Given the description of an element on the screen output the (x, y) to click on. 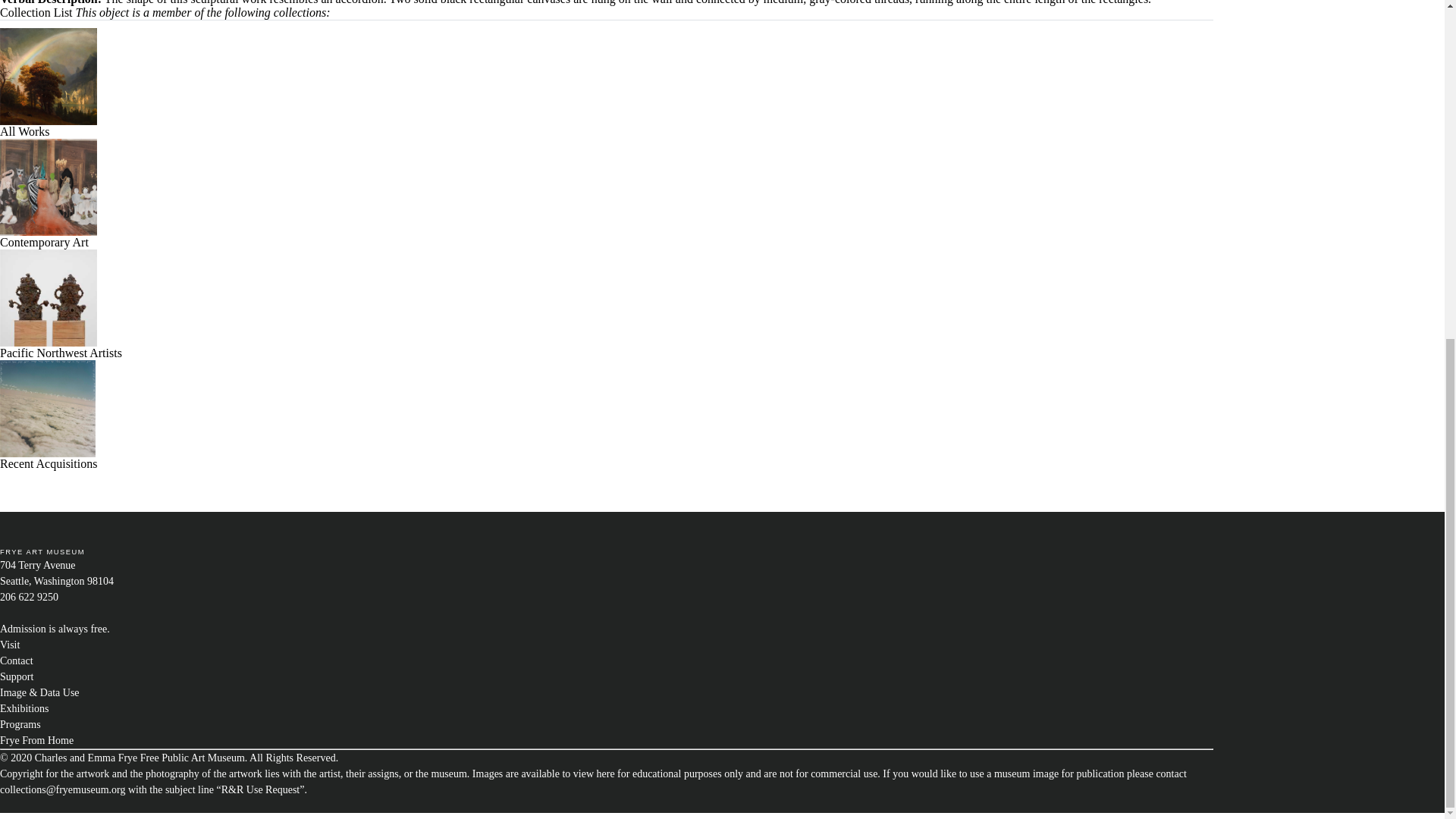
Recent Acquisitions (48, 458)
Exhibitions (24, 708)
Contemporary Art (48, 236)
All Works (48, 126)
Contact (16, 660)
Visit (10, 644)
Frye From Home (37, 740)
Pacific Northwest Artists (61, 347)
Programs (20, 724)
Support (16, 676)
